Given the description of an element on the screen output the (x, y) to click on. 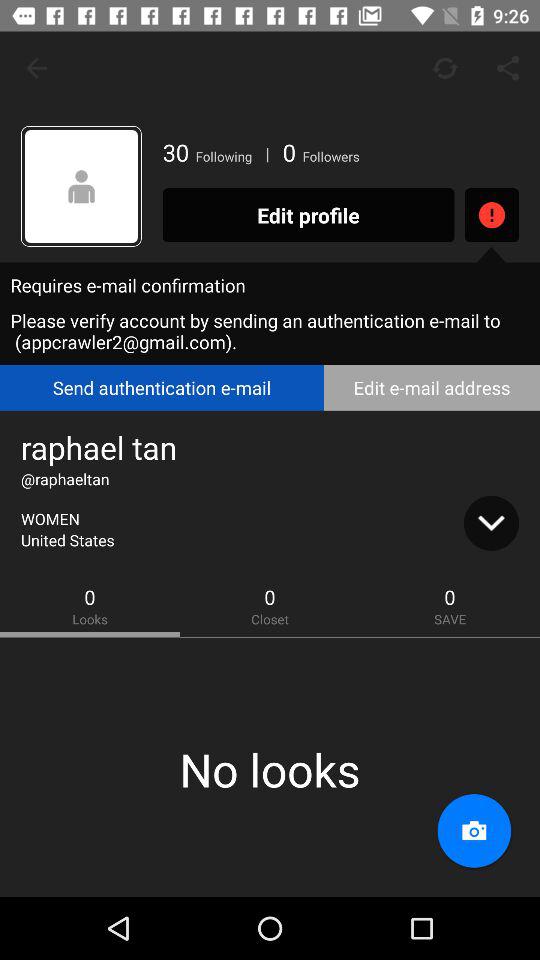
take a profile picture (474, 831)
